Given the description of an element on the screen output the (x, y) to click on. 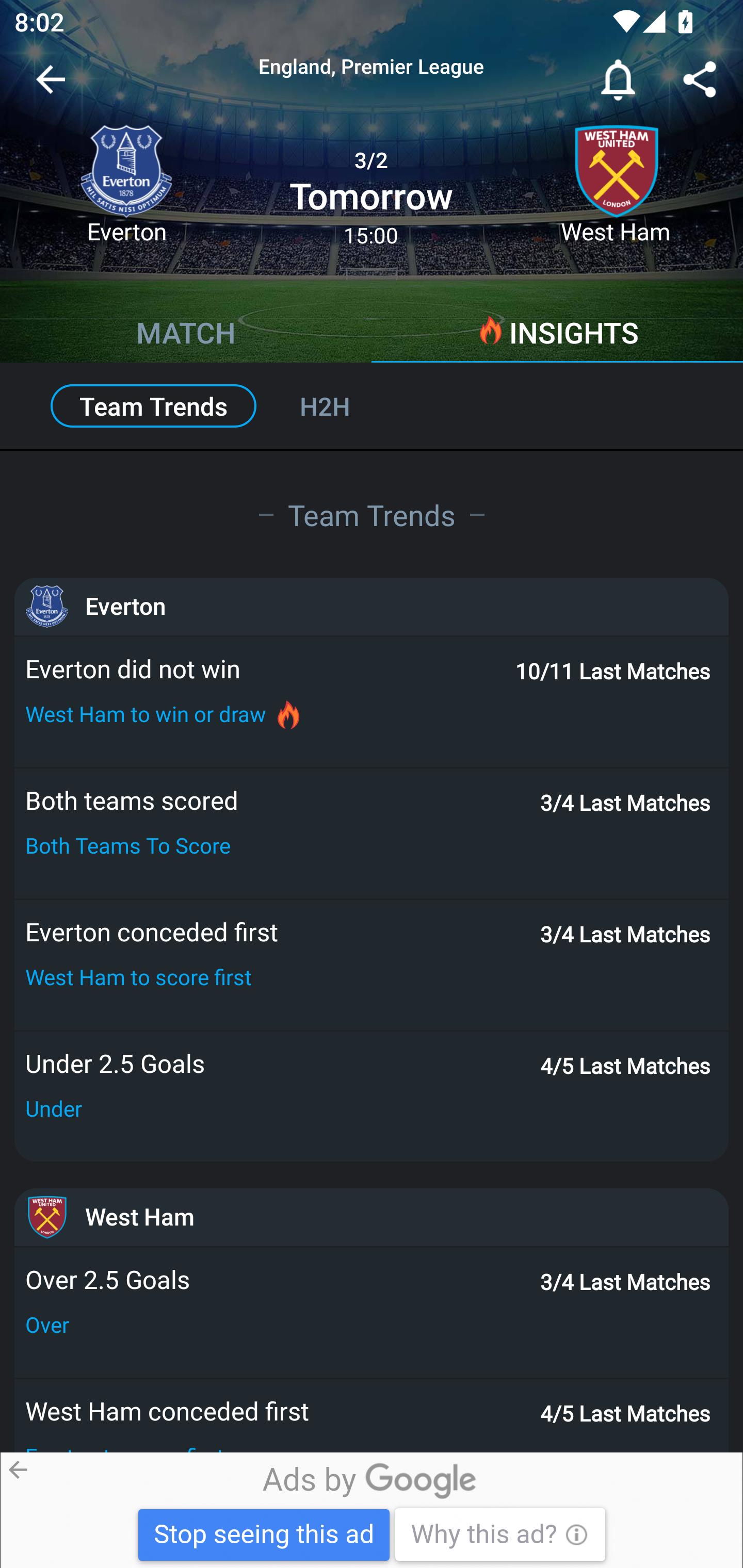
Navigate up (50, 86)
England, Premier League (371, 66)
Share (699, 82)
Everton (126, 192)
West Ham (616, 192)
MATCH (185, 335)
INSIGHTS (557, 335)
H2H (346, 406)
Team Trends (371, 514)
Everton (371, 606)
Under 2.5 Goals 4/5 Last Matches Under (371, 1096)
West Ham (371, 1217)
Over 2.5 Goals 3/4 Last Matches Over (371, 1313)
